Given the description of an element on the screen output the (x, y) to click on. 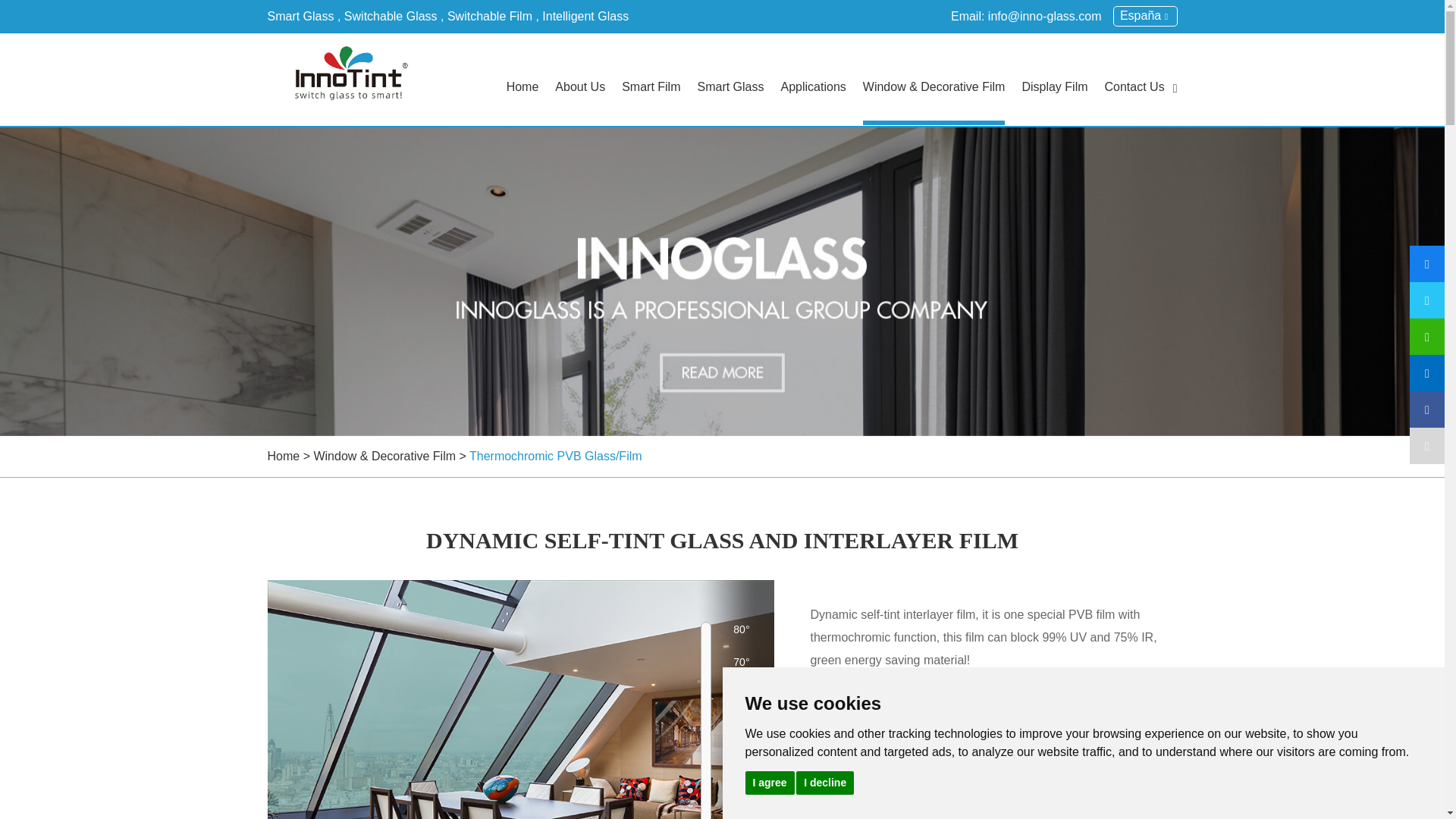
I decline (824, 781)
Switchable Glass (390, 15)
Intelligent Glass (584, 15)
Smart Glass (299, 15)
I agree (768, 781)
Switchable Glass (390, 15)
1 (821, 626)
Switchable Film (489, 15)
Smart Glass (299, 15)
Intelligent Glass (584, 15)
Switchable Film (489, 15)
